Given the description of an element on the screen output the (x, y) to click on. 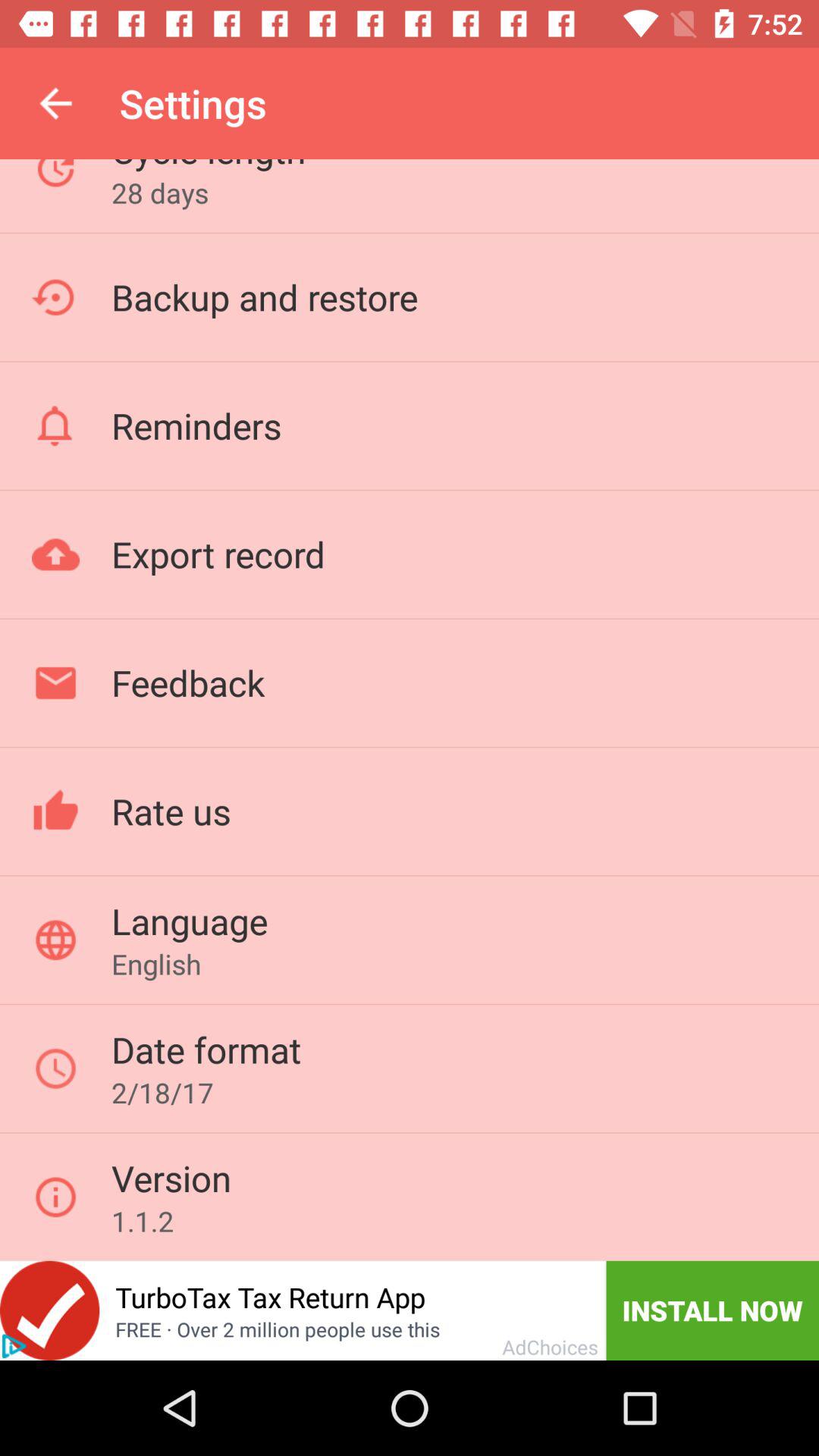
launch icon to the left of free over 2 (14, 1346)
